Given the description of an element on the screen output the (x, y) to click on. 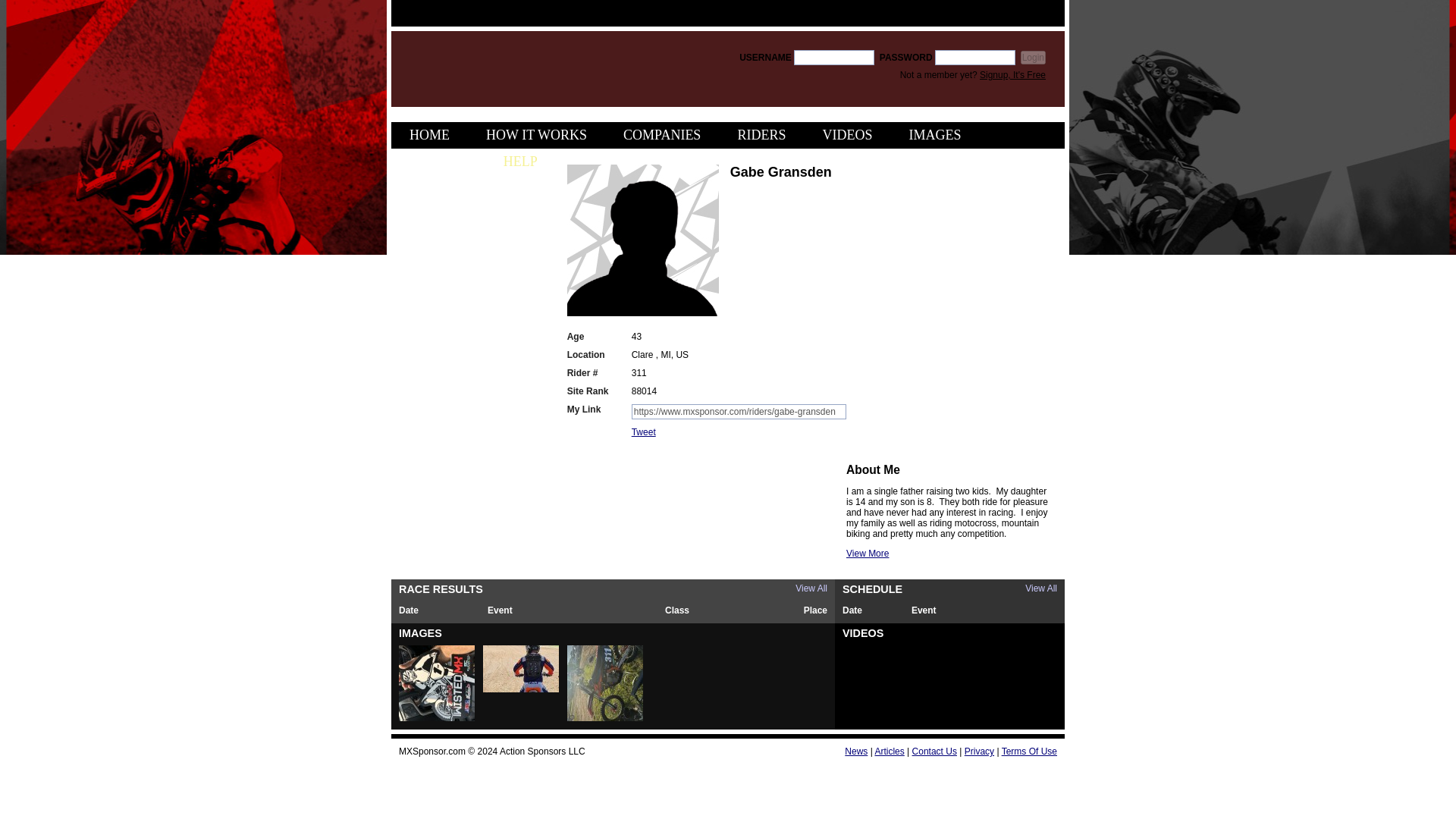
Privacy (978, 751)
News (855, 751)
Action Sponsors LLC (542, 751)
SAVINGS (438, 161)
Terms Of Use (1029, 751)
Signup, It's Free (1012, 74)
HELP (520, 161)
HOME (429, 135)
Tweet (643, 431)
Login (1032, 57)
View All (810, 588)
Login (1032, 57)
View More (866, 552)
Articles (889, 751)
View All (1041, 588)
